Given the description of an element on the screen output the (x, y) to click on. 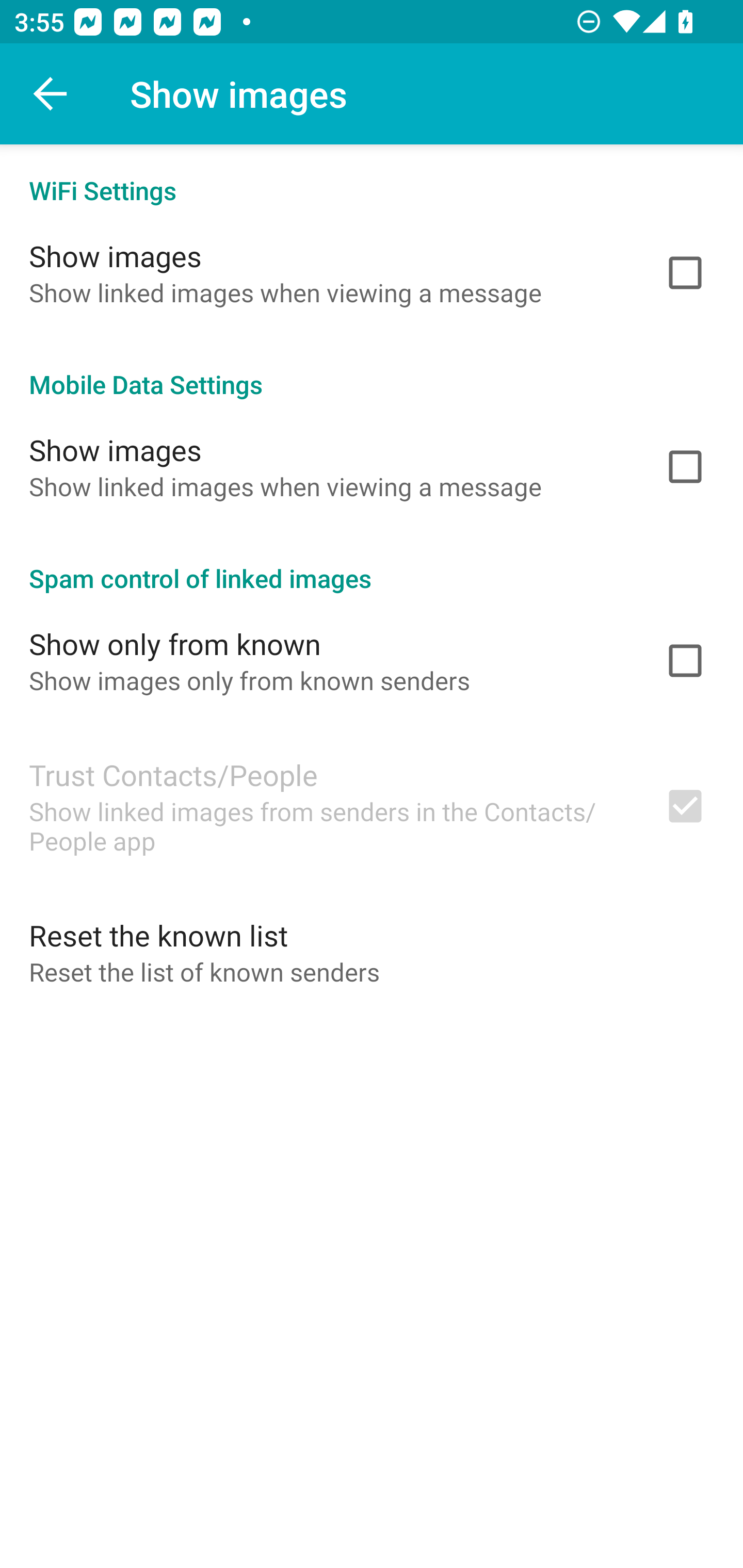
Navigate up (50, 93)
